Given the description of an element on the screen output the (x, y) to click on. 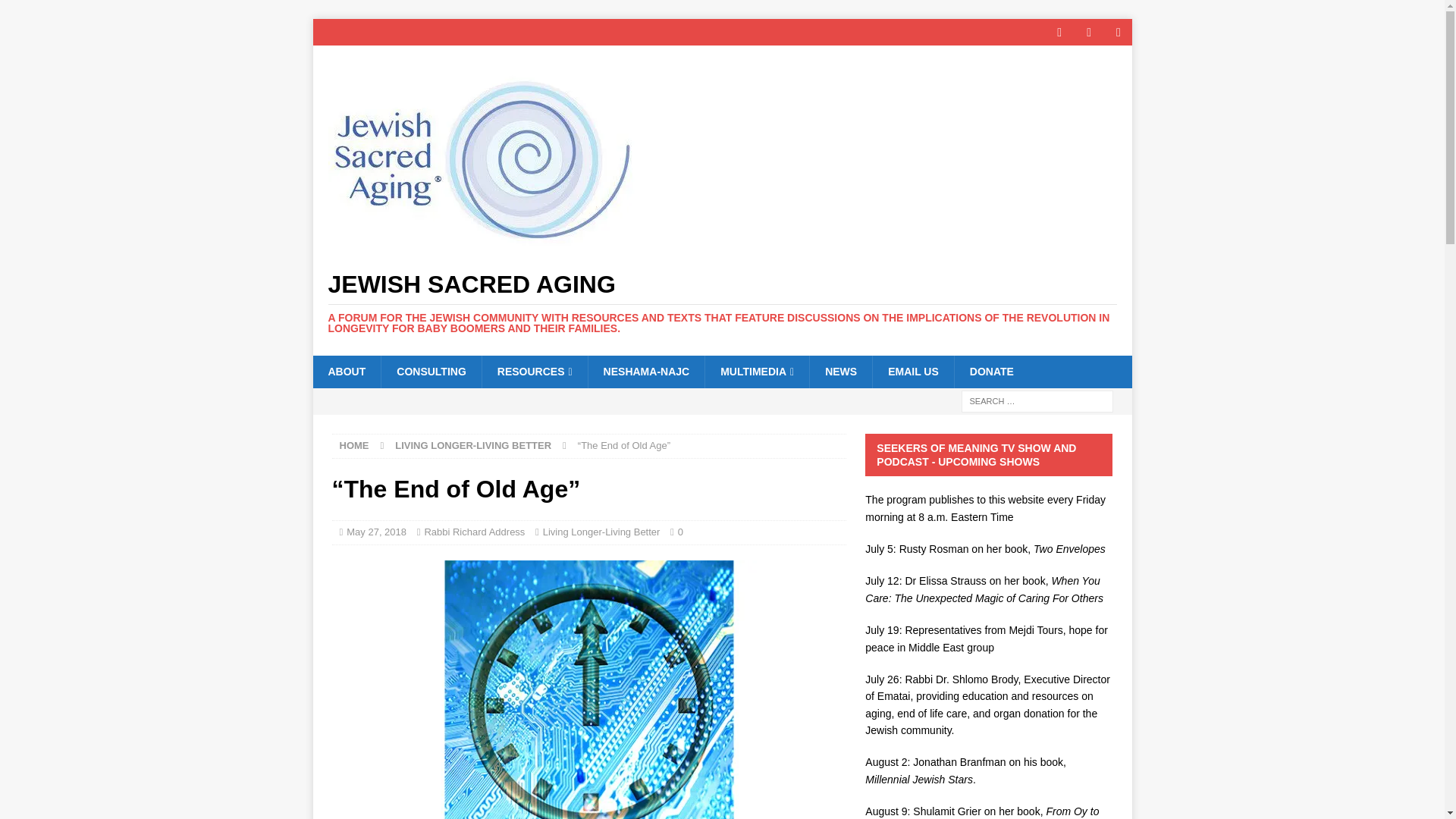
Jewish Sacred Aging (721, 302)
RESOURCES (534, 371)
ABOUT (346, 371)
NESHAMA-NAJC (646, 371)
CONSULTING (430, 371)
Taradash-TimeBanner (588, 689)
